Given the description of an element on the screen output the (x, y) to click on. 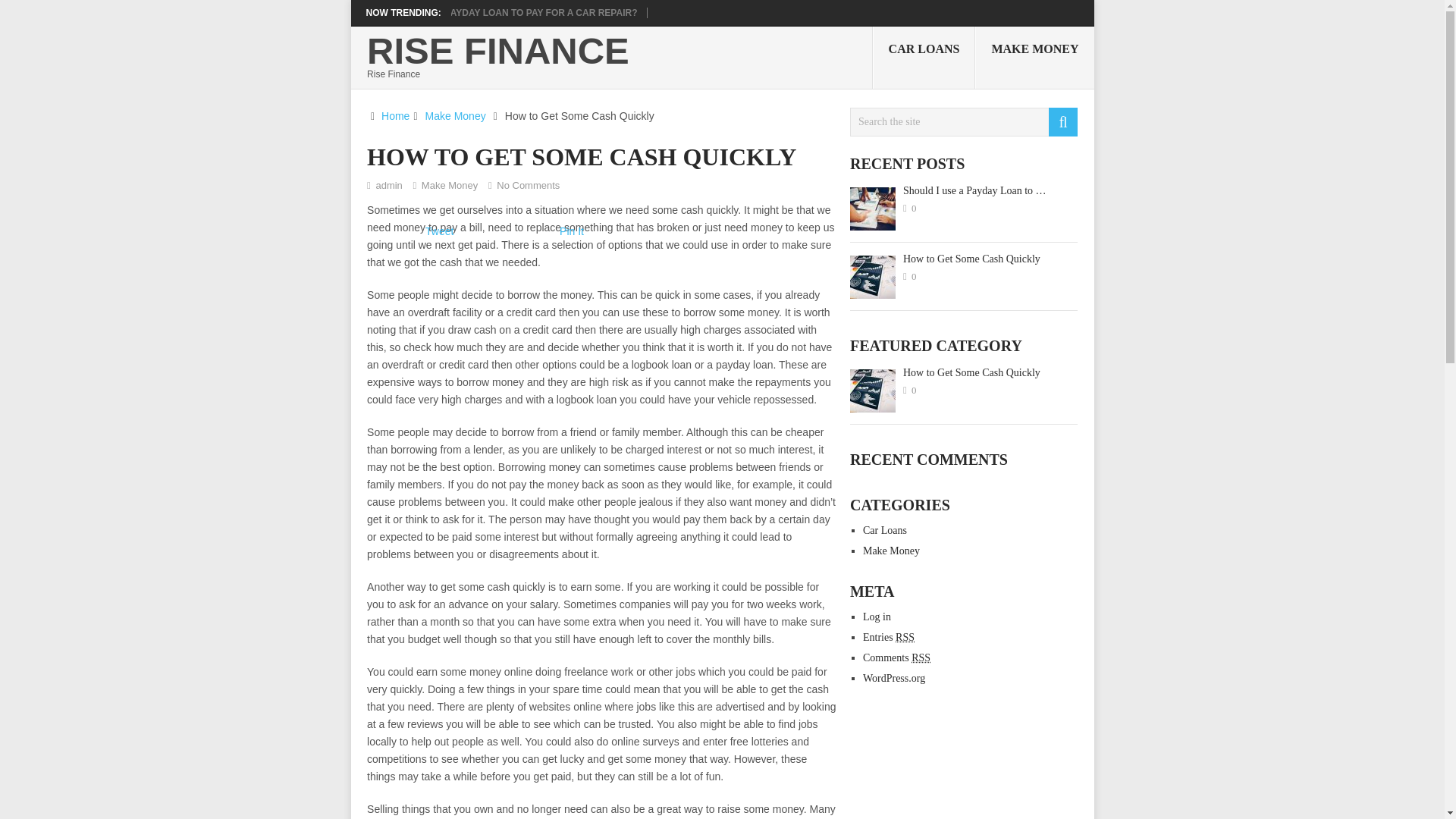
Make Money (455, 115)
SHOULD I USE A PAYDAY LOAN TO PAY FOR A CAR REPAIR? (503, 12)
Make Money (891, 550)
How to Get Some Cash Quickly (963, 258)
View all posts in Make Money (449, 184)
Log in (877, 616)
admin (388, 184)
Pin It (571, 231)
RISE FINANCE (497, 50)
Should I use a Payday Loan to pay for a Car Repair? (503, 12)
Should I use a Payday Loan to pay for a Car Repair? (963, 191)
MAKE MONEY (1034, 57)
How to Get Some Cash Quickly (963, 372)
Home (395, 115)
No Comments (527, 184)
